Given the description of an element on the screen output the (x, y) to click on. 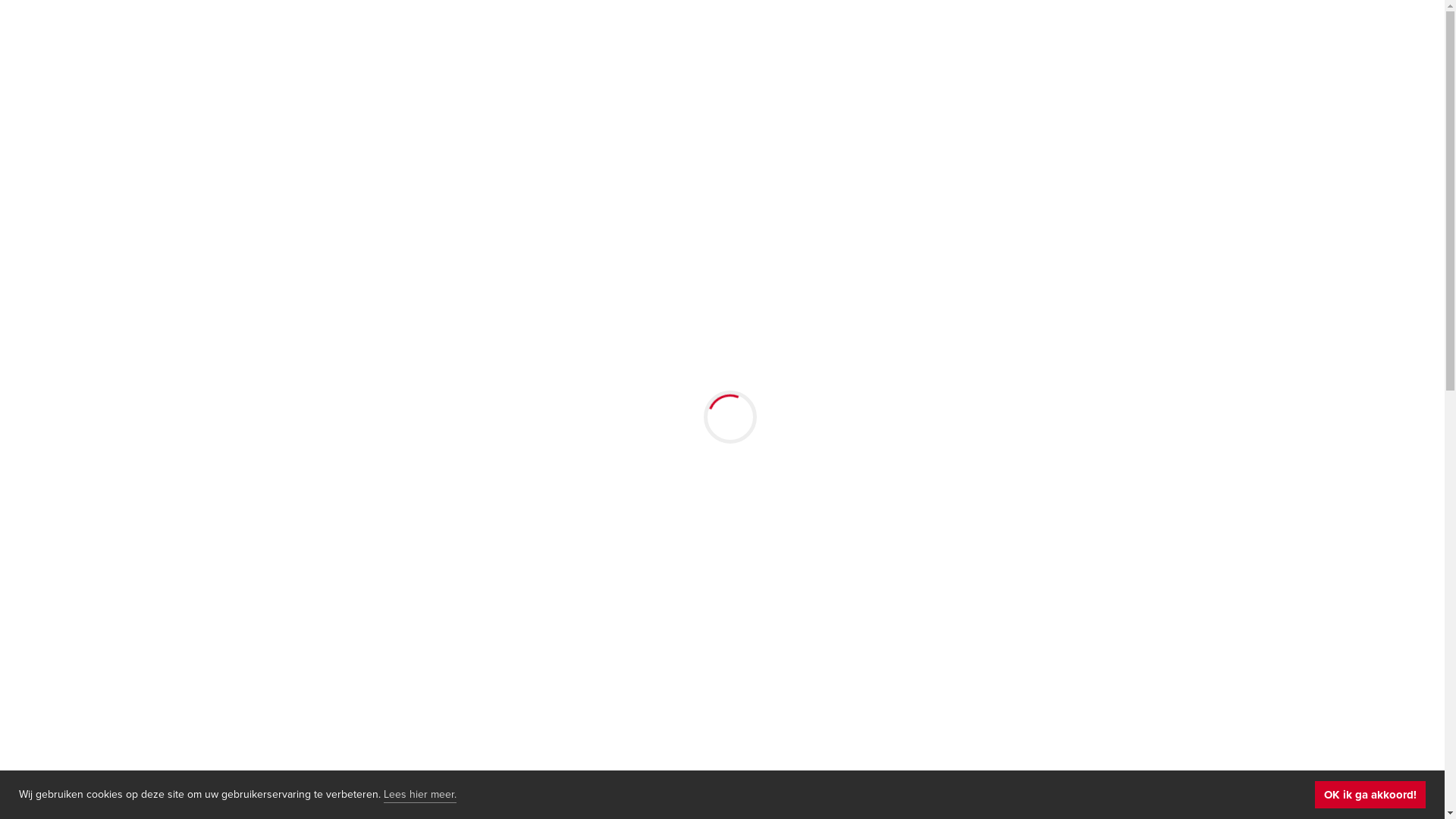
POWERFLUSH Element type: text (861, 34)
TEAM Element type: text (1040, 34)
Lees hier meer. Element type: text (419, 795)
OK ik ga akkoord! Element type: text (1369, 794)
TWEEDEHANDS Element type: text (657, 34)
CONTACTEER ONS VOOR MEER INFO Element type: text (724, 512)
OVER ONS Element type: text (964, 34)
NIEUWE WAGENS Element type: text (529, 34)
CONTACT Element type: text (1111, 34)
VERHUUR Element type: text (762, 34)
